Given the description of an element on the screen output the (x, y) to click on. 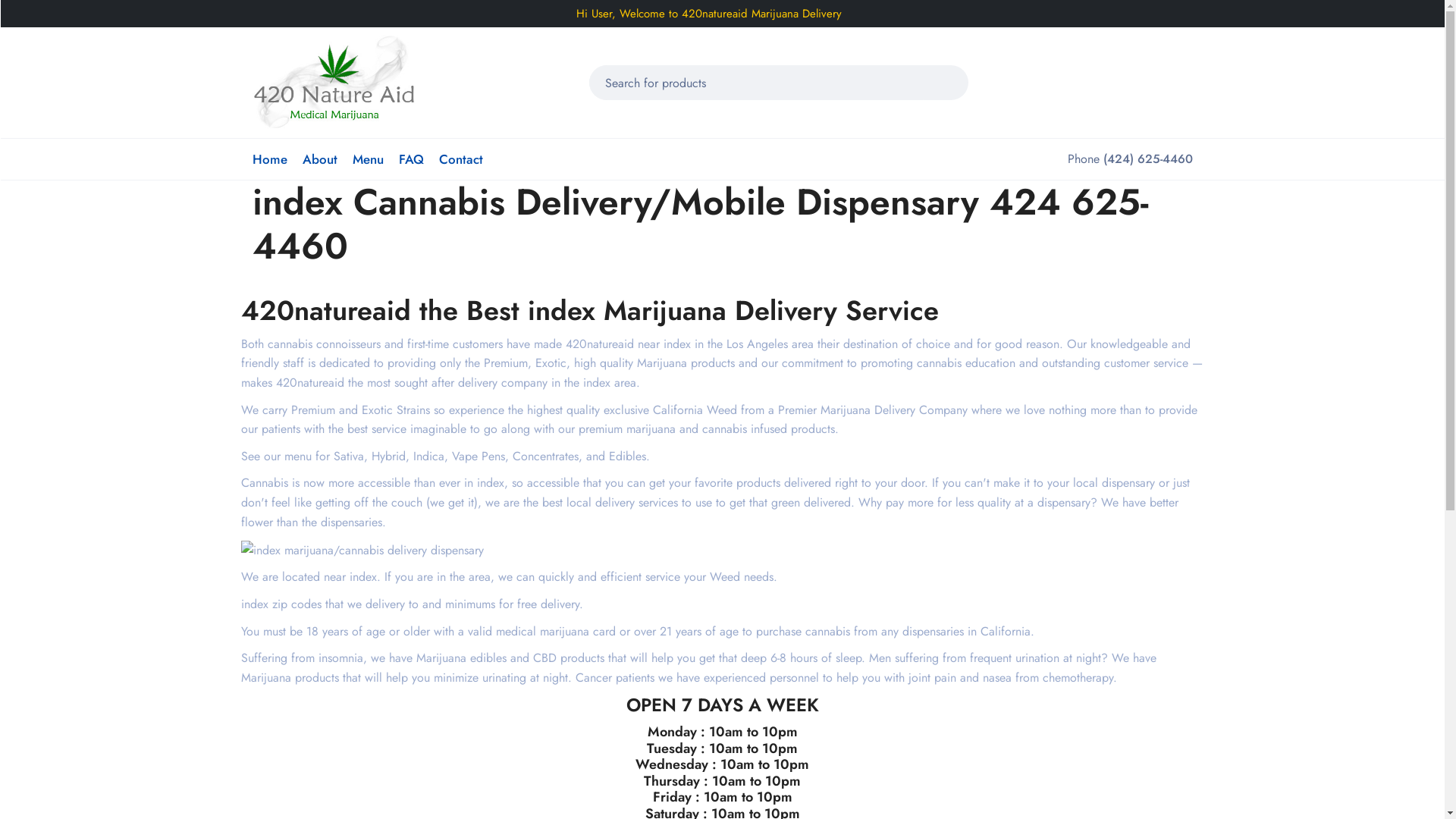
FAQ Element type: text (410, 158)
About Element type: text (318, 158)
Menu Element type: text (366, 158)
420natureaid Home Element type: hover (333, 81)
Home Element type: text (268, 158)
Contact Element type: text (460, 158)
